Given the description of an element on the screen output the (x, y) to click on. 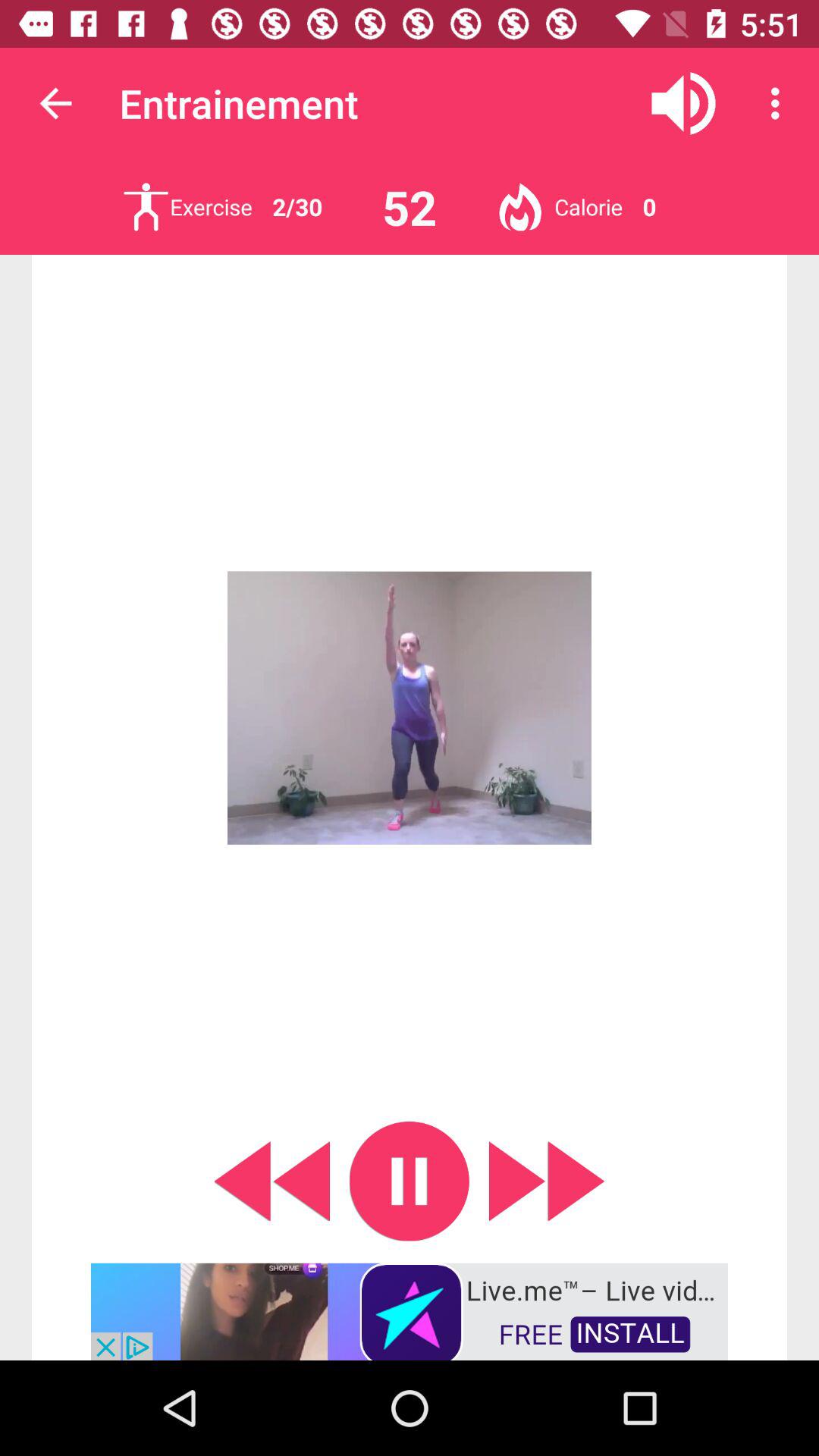
clicar no boto em calorie (520, 206)
